Given the description of an element on the screen output the (x, y) to click on. 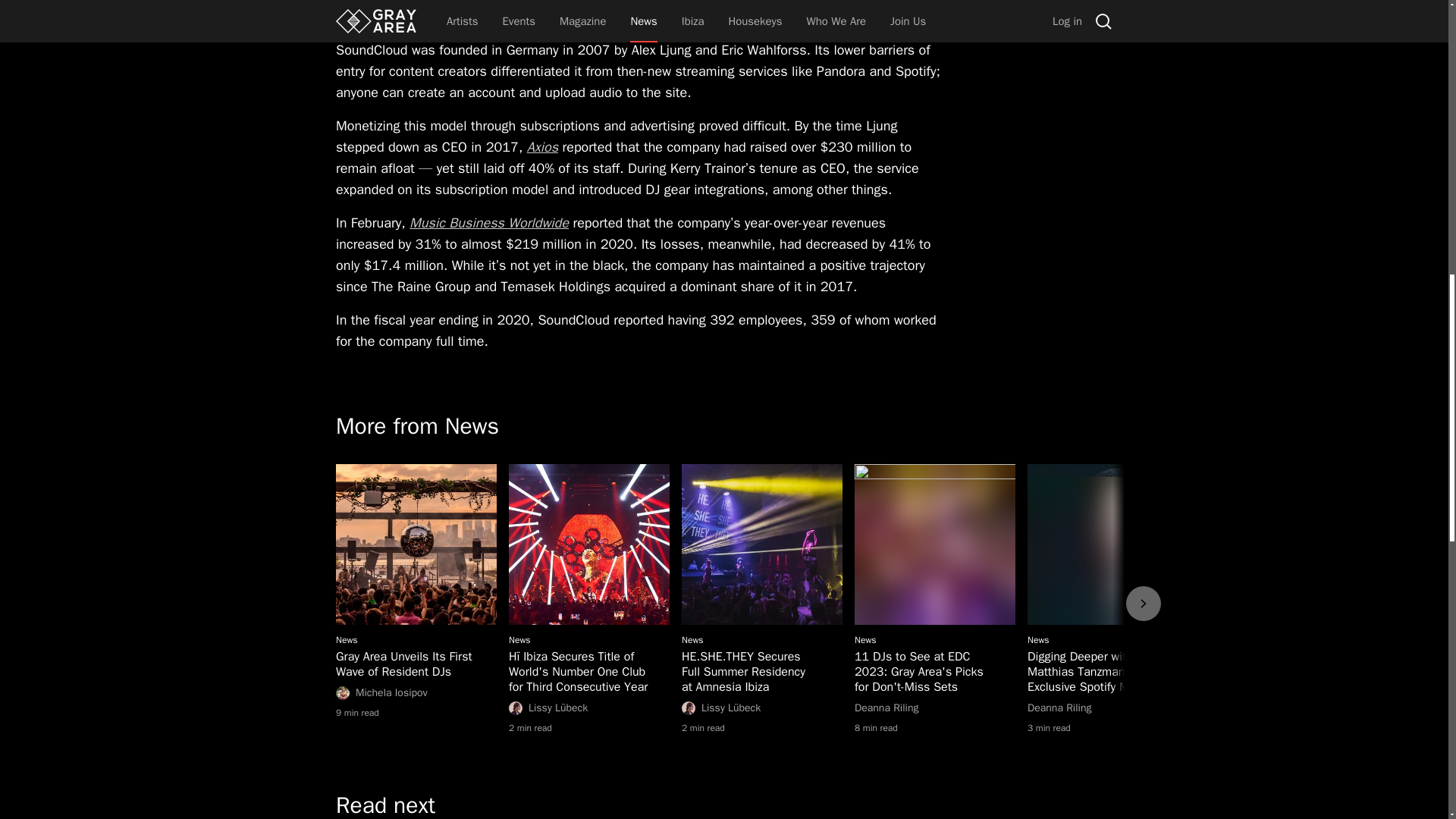
Deanna Riling (934, 708)
Michela Iosipov (416, 693)
Music Business Worldwide (416, 656)
Deanna Riling (489, 222)
Axios (1107, 708)
